Given the description of an element on the screen output the (x, y) to click on. 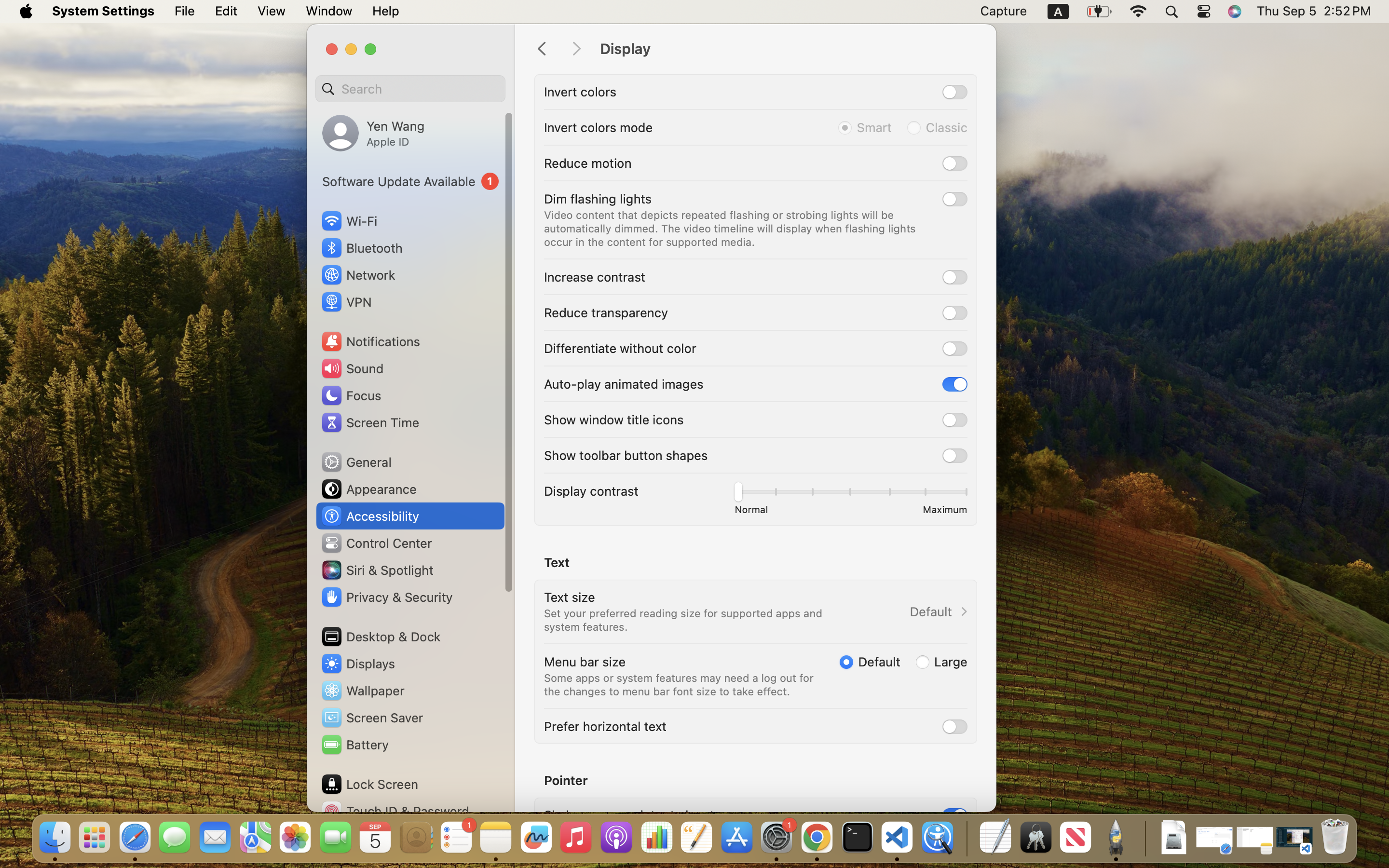
Invert colors Element type: AXStaticText (580, 91)
Reduce transparency Element type: AXStaticText (606, 312)
Differentiate without color Element type: AXStaticText (620, 347)
1 Element type: AXStaticText (410, 180)
Show toolbar button shapes Element type: AXStaticText (626, 454)
